Given the description of an element on the screen output the (x, y) to click on. 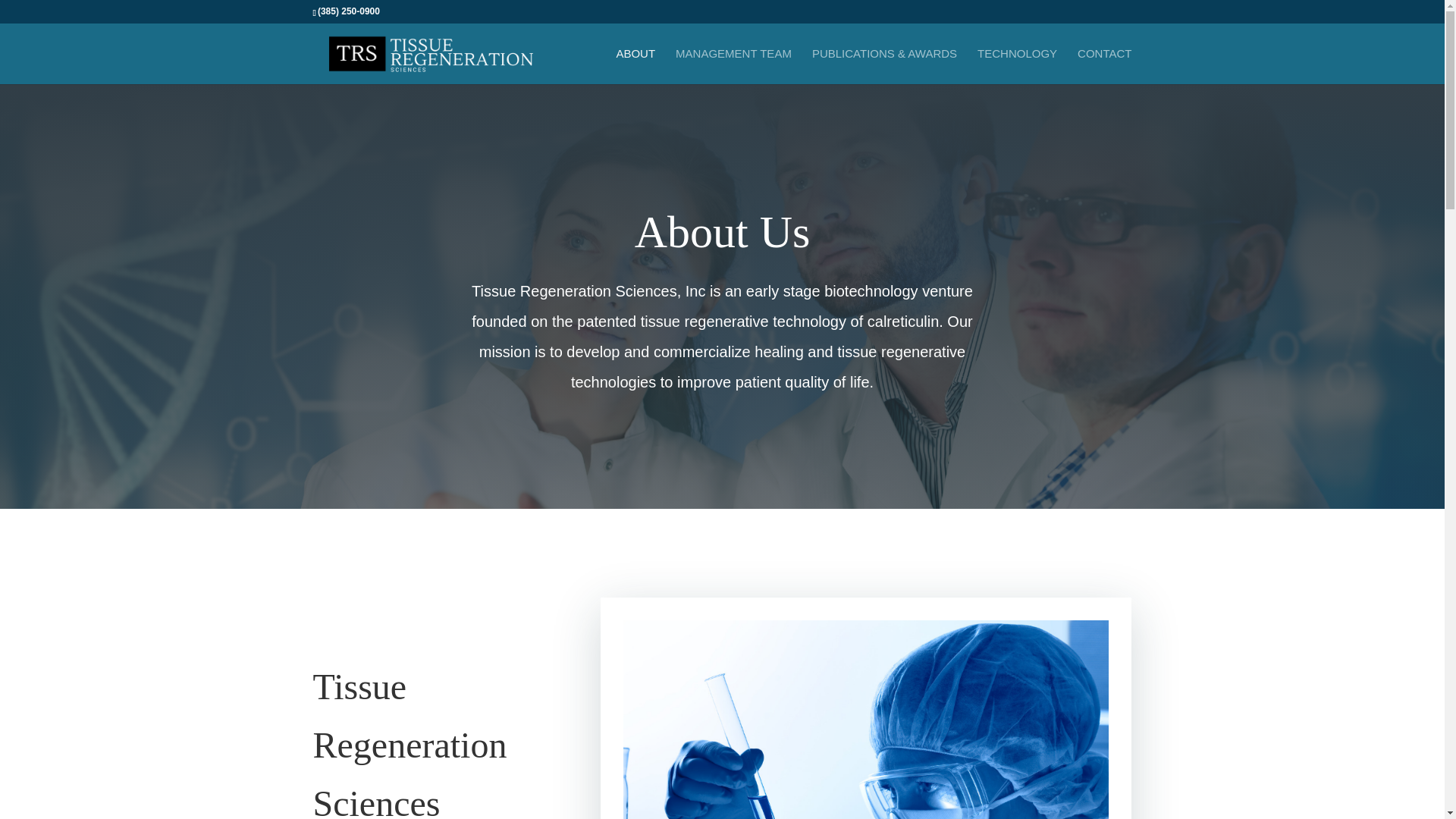
ABOUT (635, 66)
CONTACT (1104, 66)
MANAGEMENT TEAM (733, 66)
TECHNOLOGY (1016, 66)
